Given the description of an element on the screen output the (x, y) to click on. 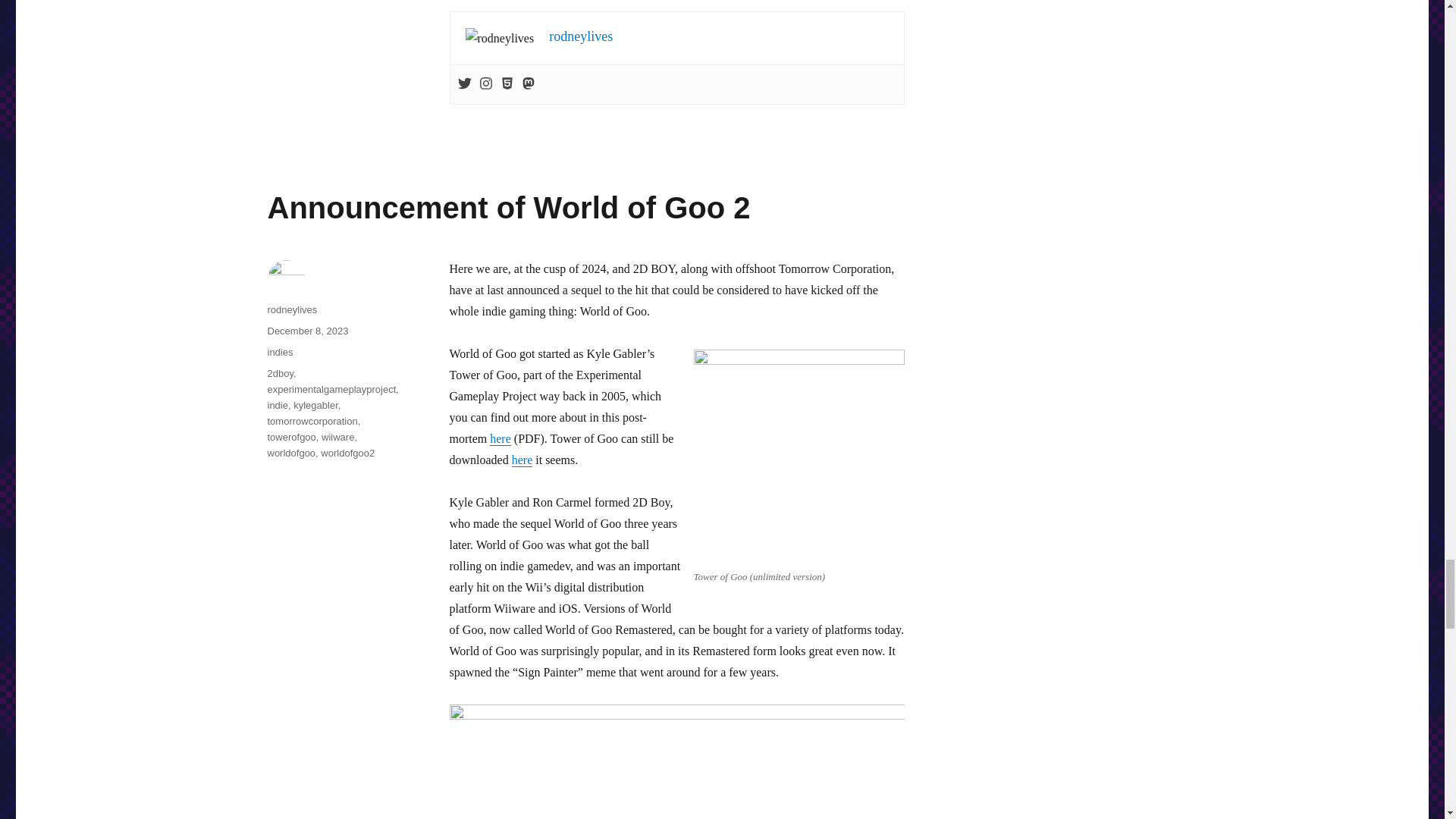
here (500, 438)
here (522, 459)
Announcement of World of Goo 2 (507, 207)
rodneylives (580, 36)
